Given the description of an element on the screen output the (x, y) to click on. 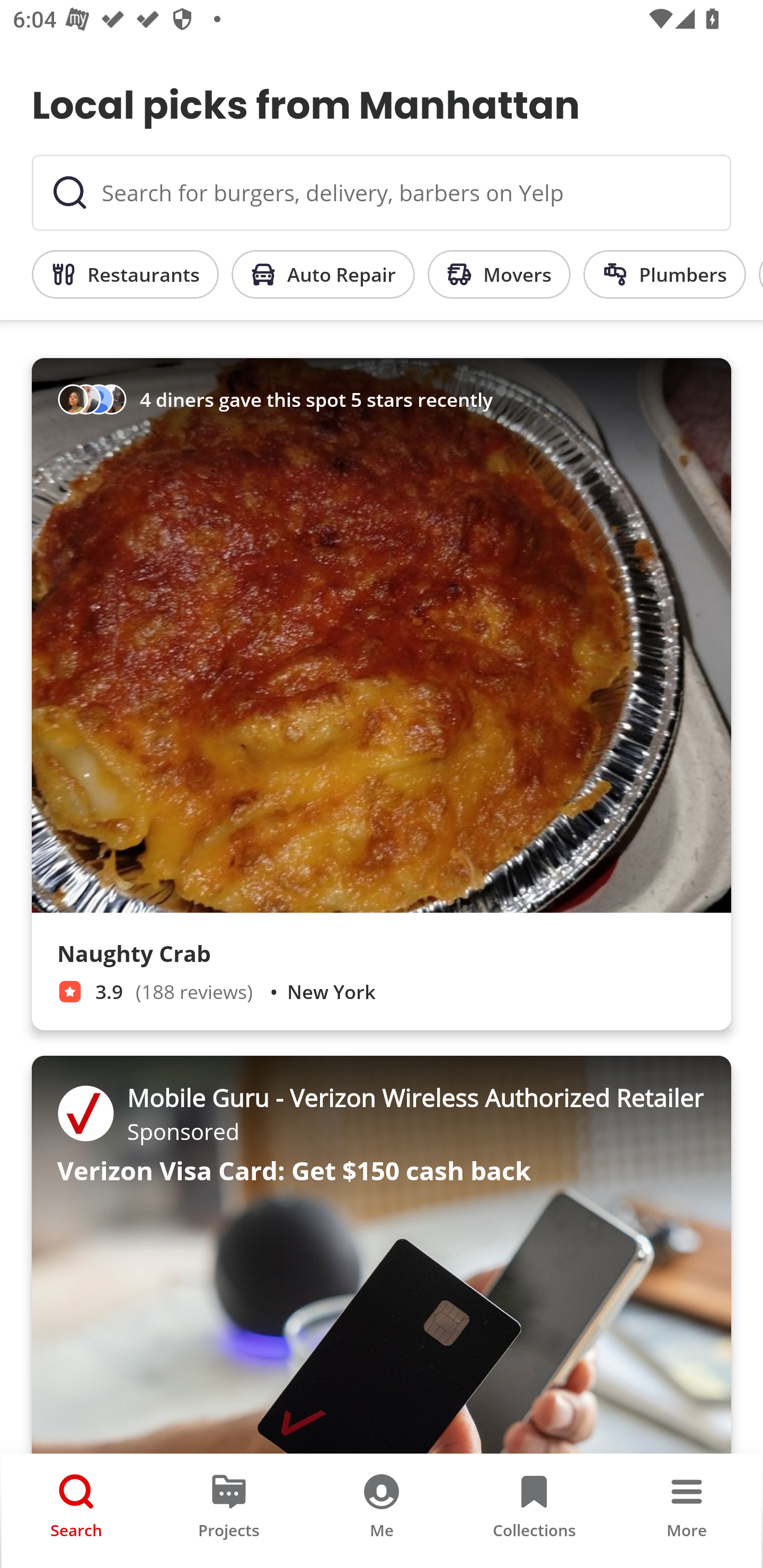
Search for burgers, delivery, barbers on Yelp (381, 192)
